Given the description of an element on the screen output the (x, y) to click on. 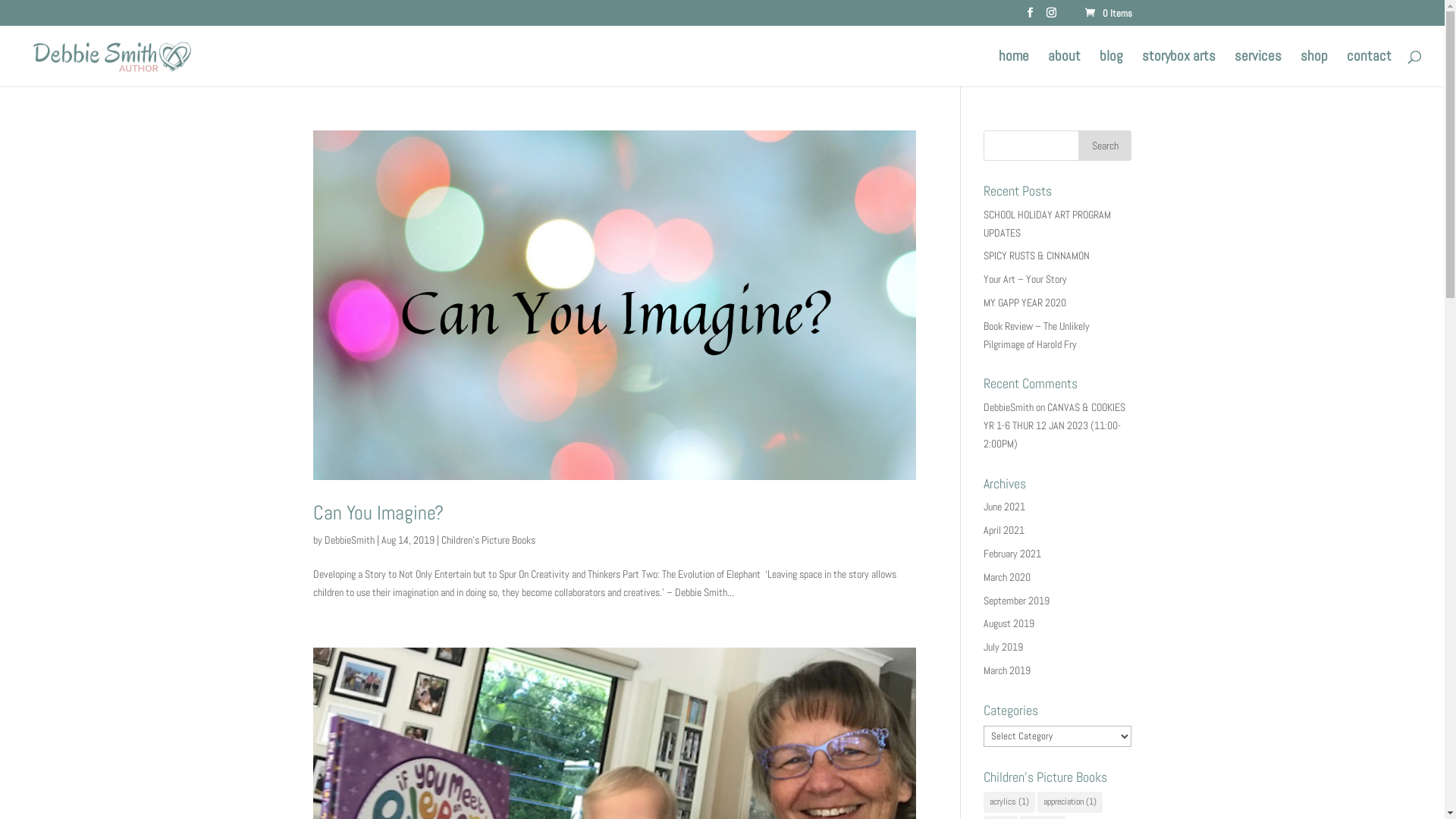
contact Element type: text (1368, 68)
SCHOOL HOLIDAY ART PROGRAM UPDATES Element type: text (1046, 223)
shop Element type: text (1313, 68)
September 2019 Element type: text (1016, 600)
SPICY RUSTS & CINNAMON Element type: text (1036, 255)
appreciation (1) Element type: text (1069, 801)
services Element type: text (1257, 68)
storybox arts Element type: text (1178, 68)
about Element type: text (1064, 68)
March 2019 Element type: text (1006, 670)
DebbieSmith Element type: text (1008, 407)
June 2021 Element type: text (1004, 506)
home Element type: text (1013, 68)
July 2019 Element type: text (1002, 646)
acrylics (1) Element type: text (1009, 801)
DebbieSmith Element type: text (349, 539)
blog Element type: text (1111, 68)
February 2021 Element type: text (1012, 553)
MY GAPP YEAR 2020 Element type: text (1024, 302)
Children's Picture Books Element type: text (488, 539)
April 2021 Element type: text (1003, 529)
0 Items Element type: text (1107, 12)
August 2019 Element type: text (1008, 623)
Can You Imagine? Element type: text (377, 512)
CANVAS & COOKIES YR 1-6 THUR 12 JAN 2023 (11:00-2:00PM) Element type: text (1054, 425)
March 2020 Element type: text (1006, 576)
Search Element type: text (1104, 145)
